Given the description of an element on the screen output the (x, y) to click on. 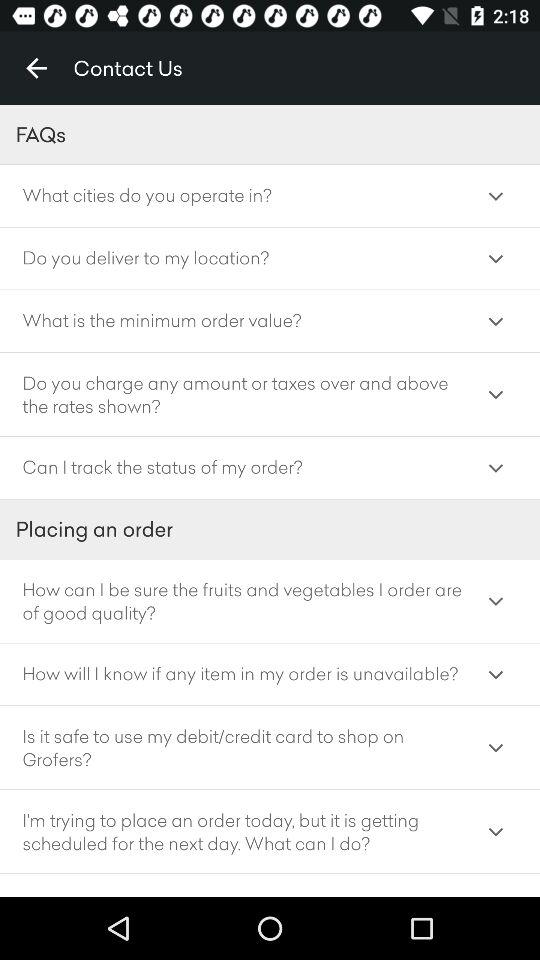
turn off icon at the top left corner (36, 67)
